Given the description of an element on the screen output the (x, y) to click on. 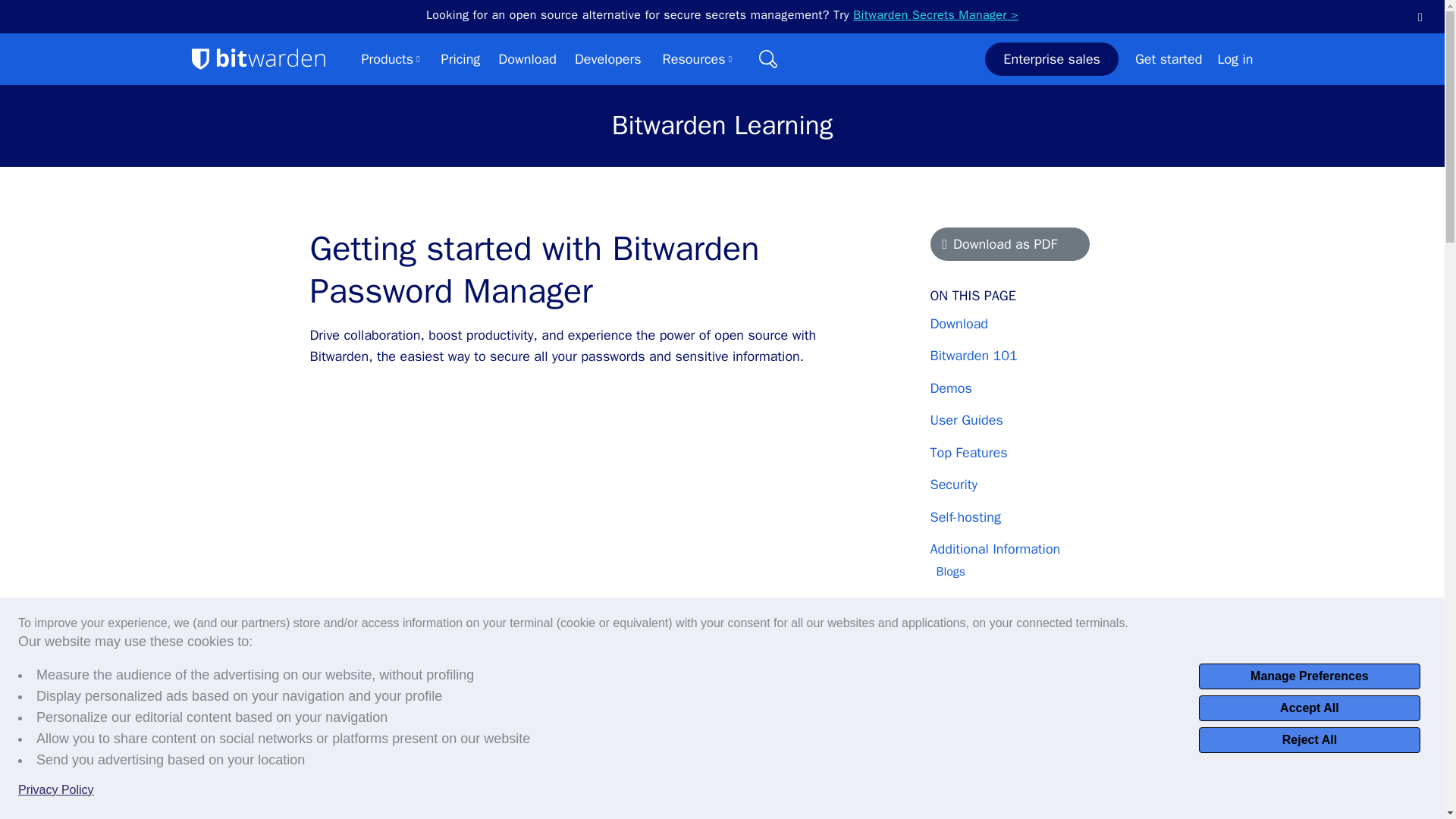
Developers (608, 58)
Privacy Policy (55, 789)
Bitwarden homepage (257, 58)
Download (526, 58)
Enterprise sales (1051, 58)
Accept All (1309, 708)
Pricing (460, 58)
Manage Preferences (1309, 676)
Reject All (1309, 739)
